Given the description of an element on the screen output the (x, y) to click on. 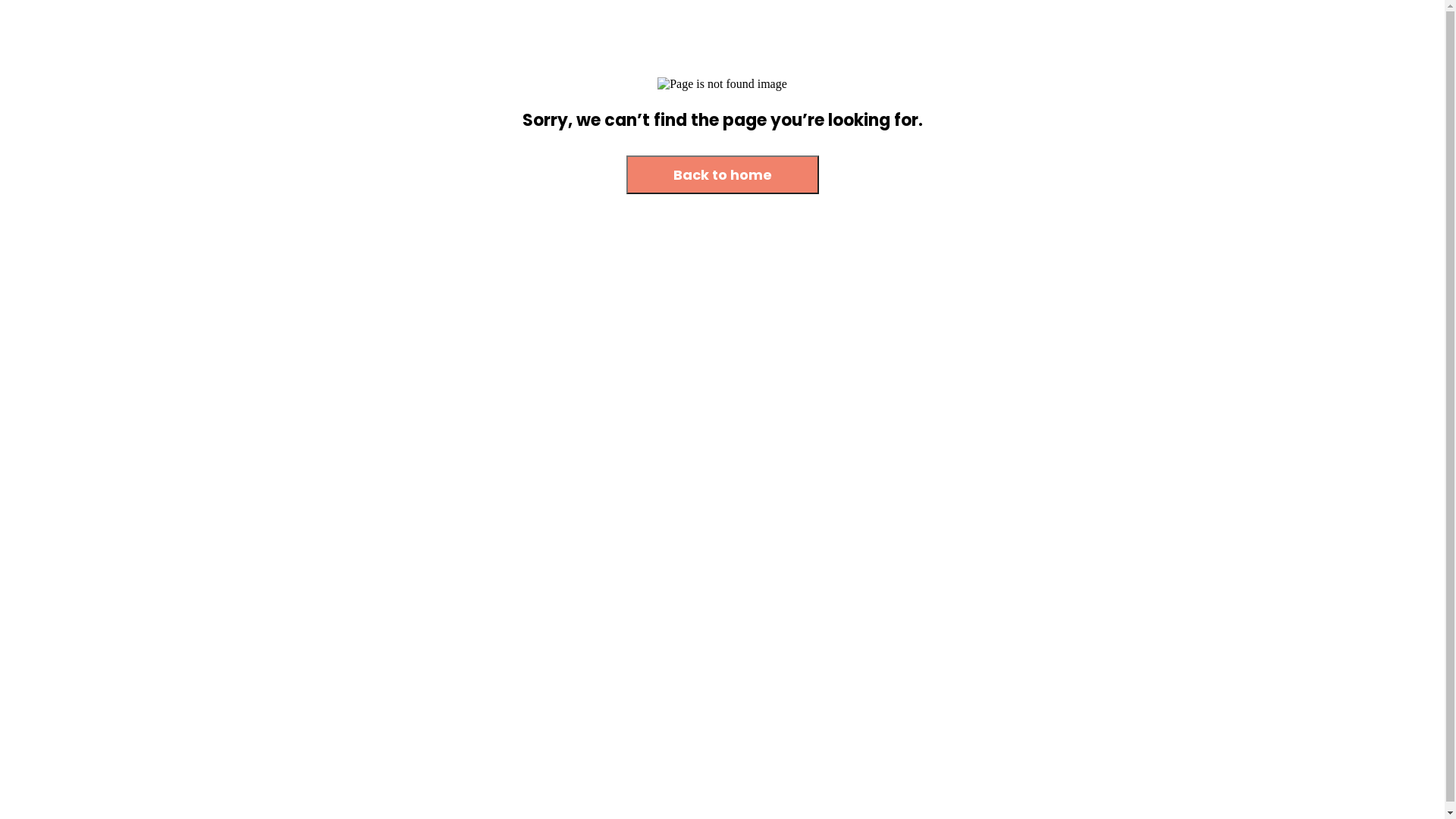
Back to home Element type: text (722, 175)
Back to home Element type: text (722, 174)
